Given the description of an element on the screen output the (x, y) to click on. 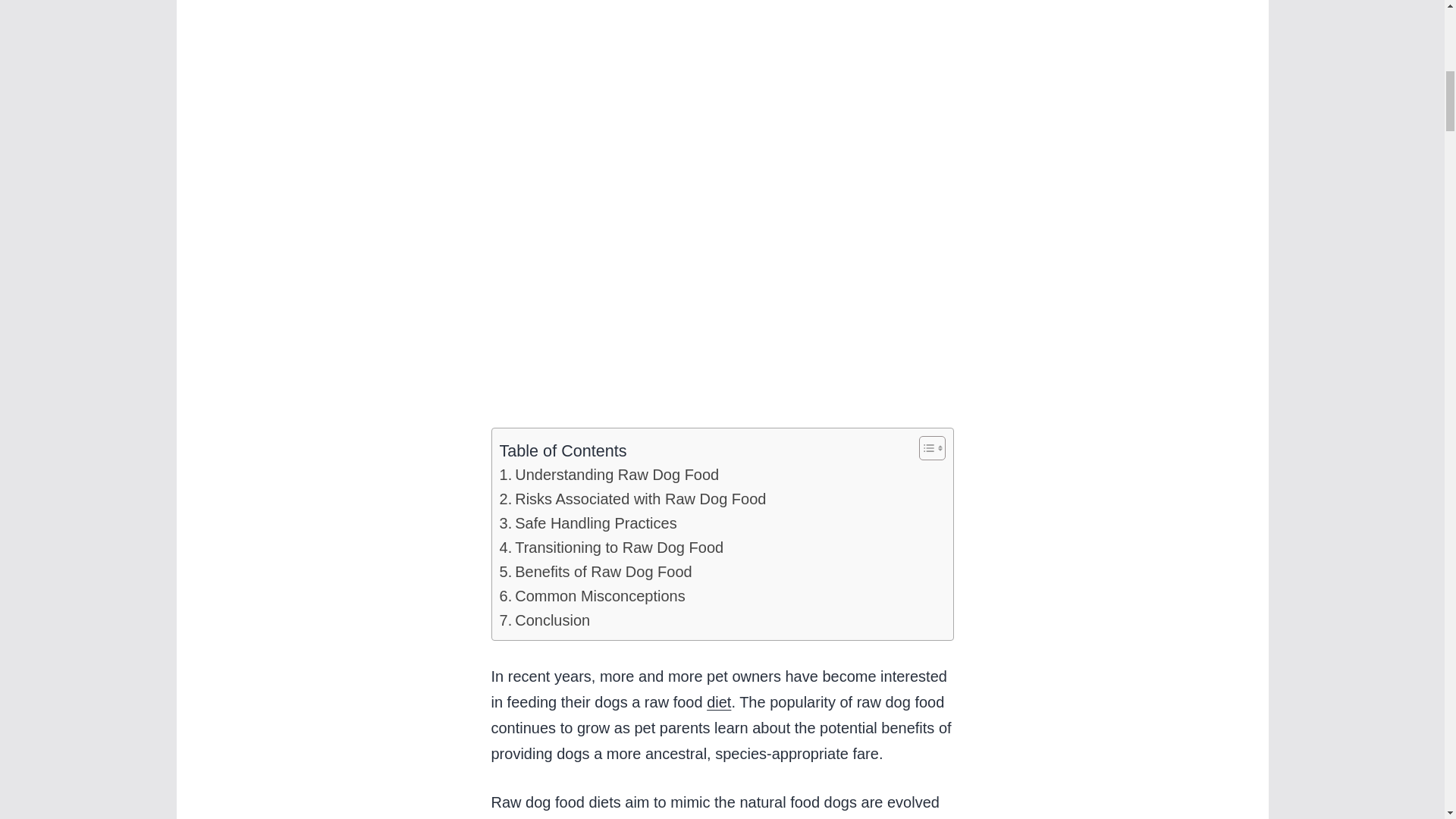
Benefits of Raw Dog Food (595, 571)
Common Misconceptions (591, 595)
Risks Associated with Raw Dog Food (632, 498)
Understanding Raw Dog Food (609, 474)
Conclusion (544, 620)
Transitioning to Raw Dog Food (611, 547)
Understanding Raw Dog Food (609, 474)
Risks Associated with Raw Dog Food (632, 498)
Safe Handling Practices (588, 523)
